Given the description of an element on the screen output the (x, y) to click on. 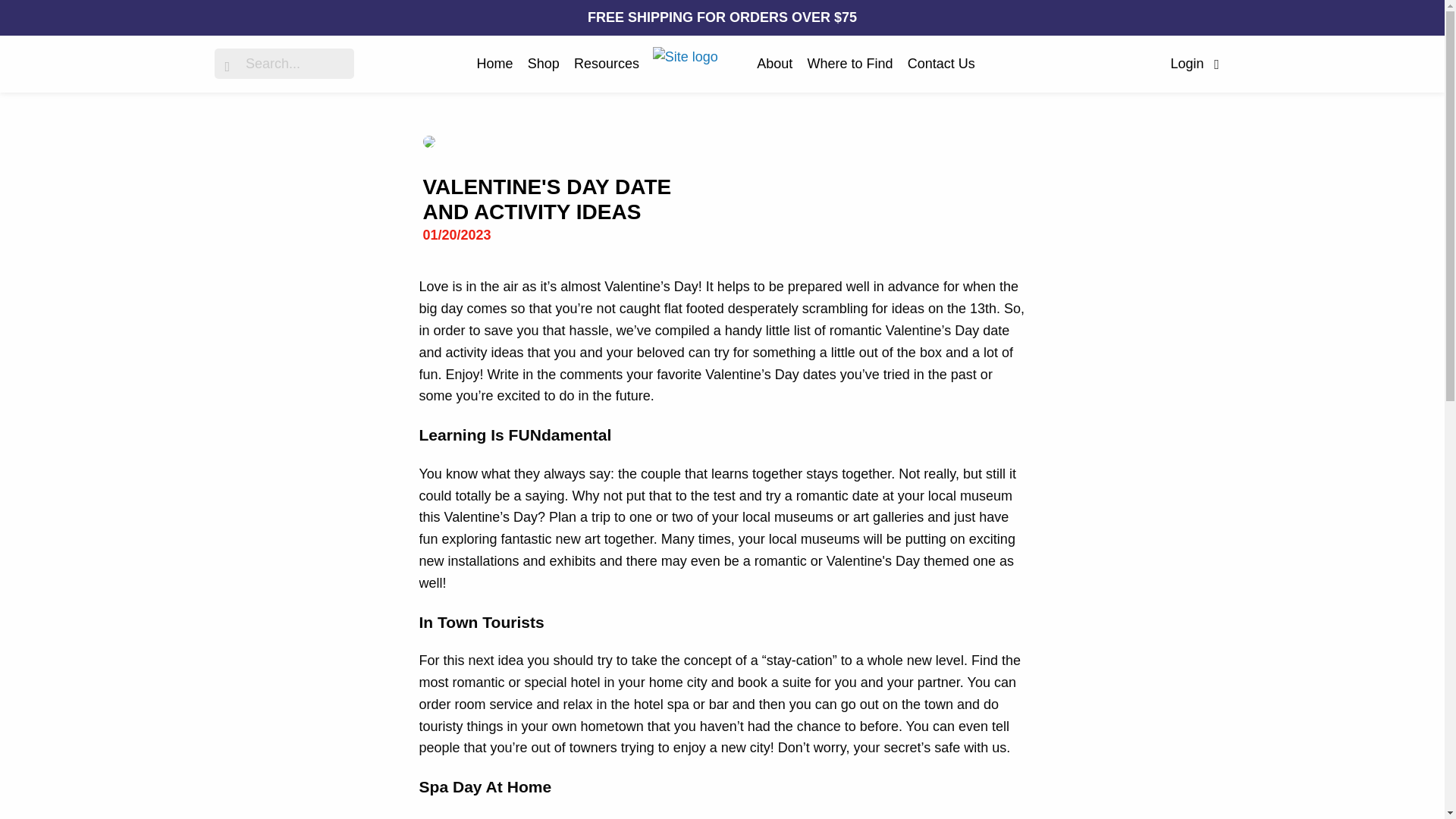
Resources (606, 63)
Home (495, 63)
Shop (543, 63)
About (774, 63)
